Given the description of an element on the screen output the (x, y) to click on. 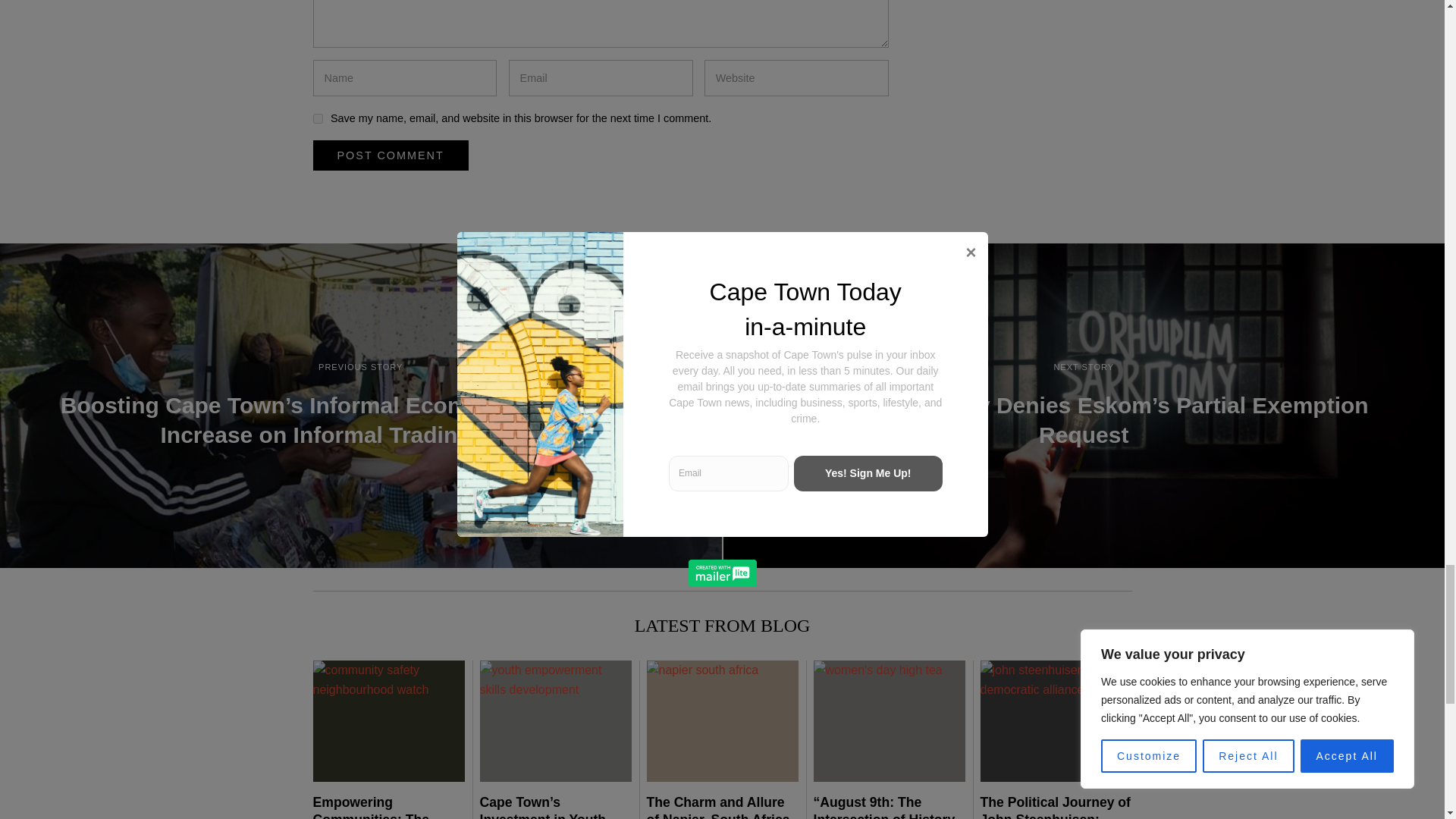
Post Comment (390, 155)
yes (317, 118)
